Given the description of an element on the screen output the (x, y) to click on. 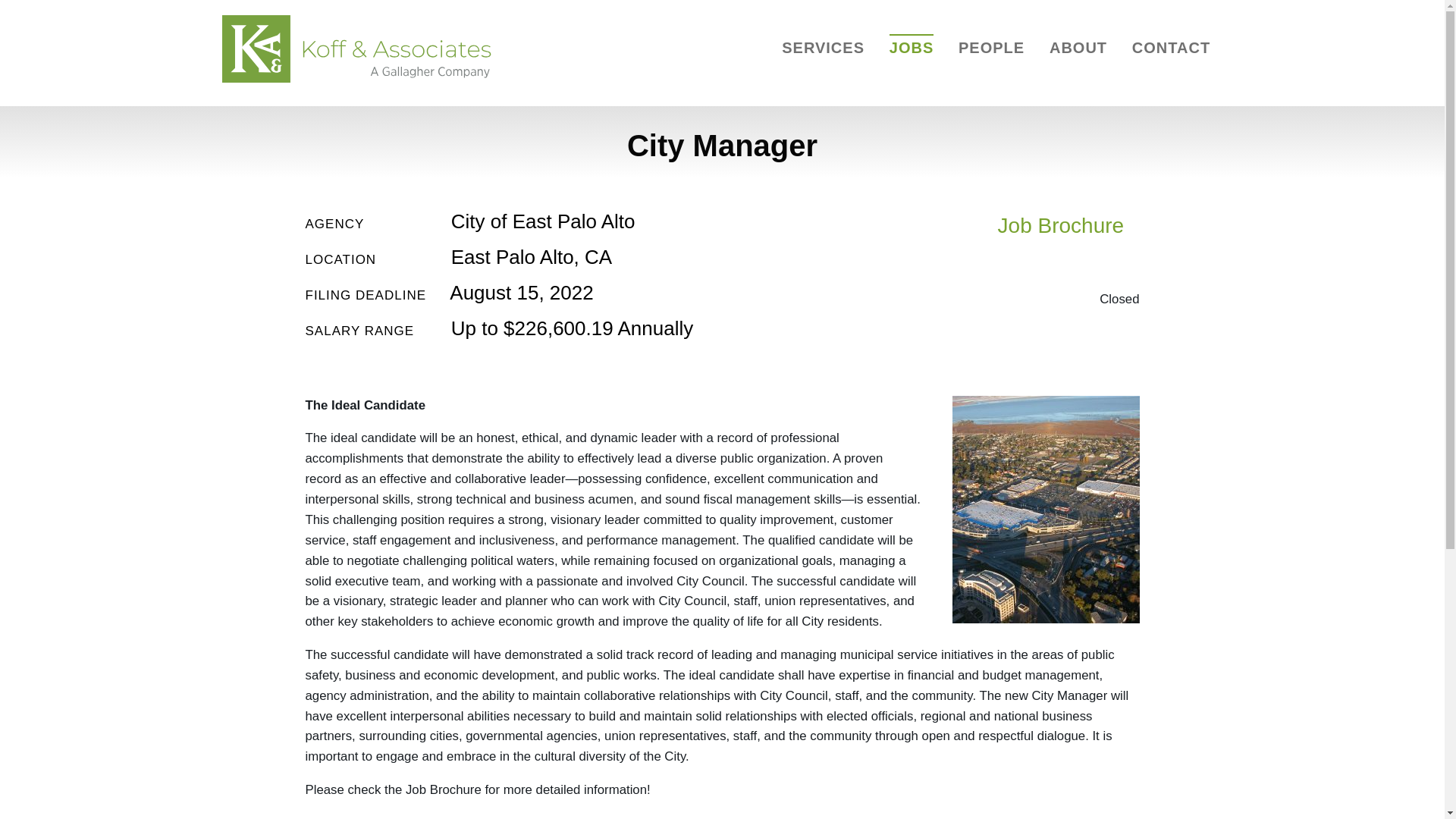
Job Brochure (1035, 226)
SERVICES (822, 46)
PEOPLE (991, 46)
ABOUT (1077, 46)
JOBS (911, 46)
CONTACT (1170, 46)
